Given the description of an element on the screen output the (x, y) to click on. 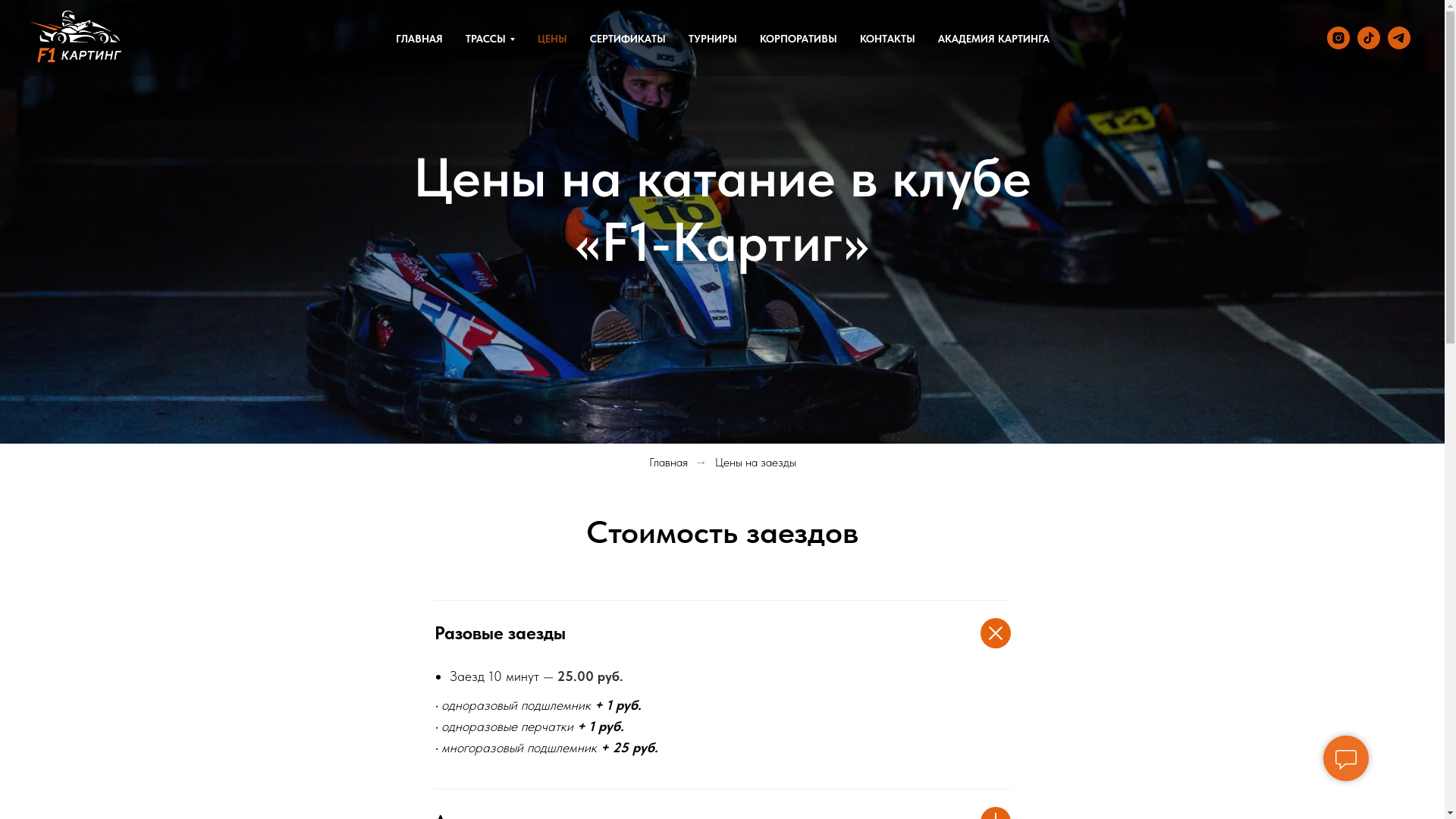
TIKTOK Element type: hover (1368, 37)
Instagram Element type: hover (1338, 37)
TELEGRAM Element type: hover (1398, 37)
